Given the description of an element on the screen output the (x, y) to click on. 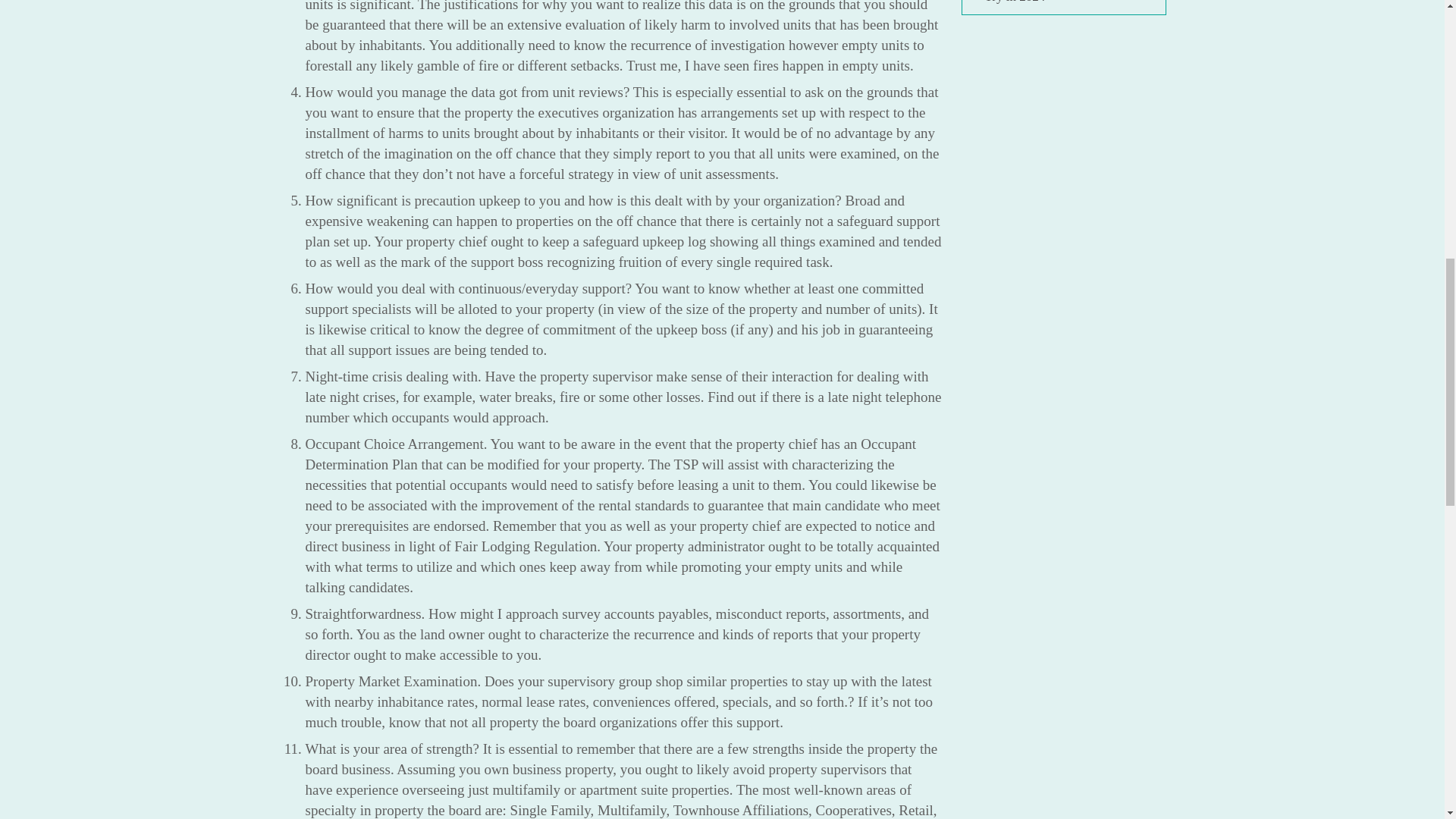
Top 10 Online Gambling Sites to Try in 2024 (1069, 2)
